Given the description of an element on the screen output the (x, y) to click on. 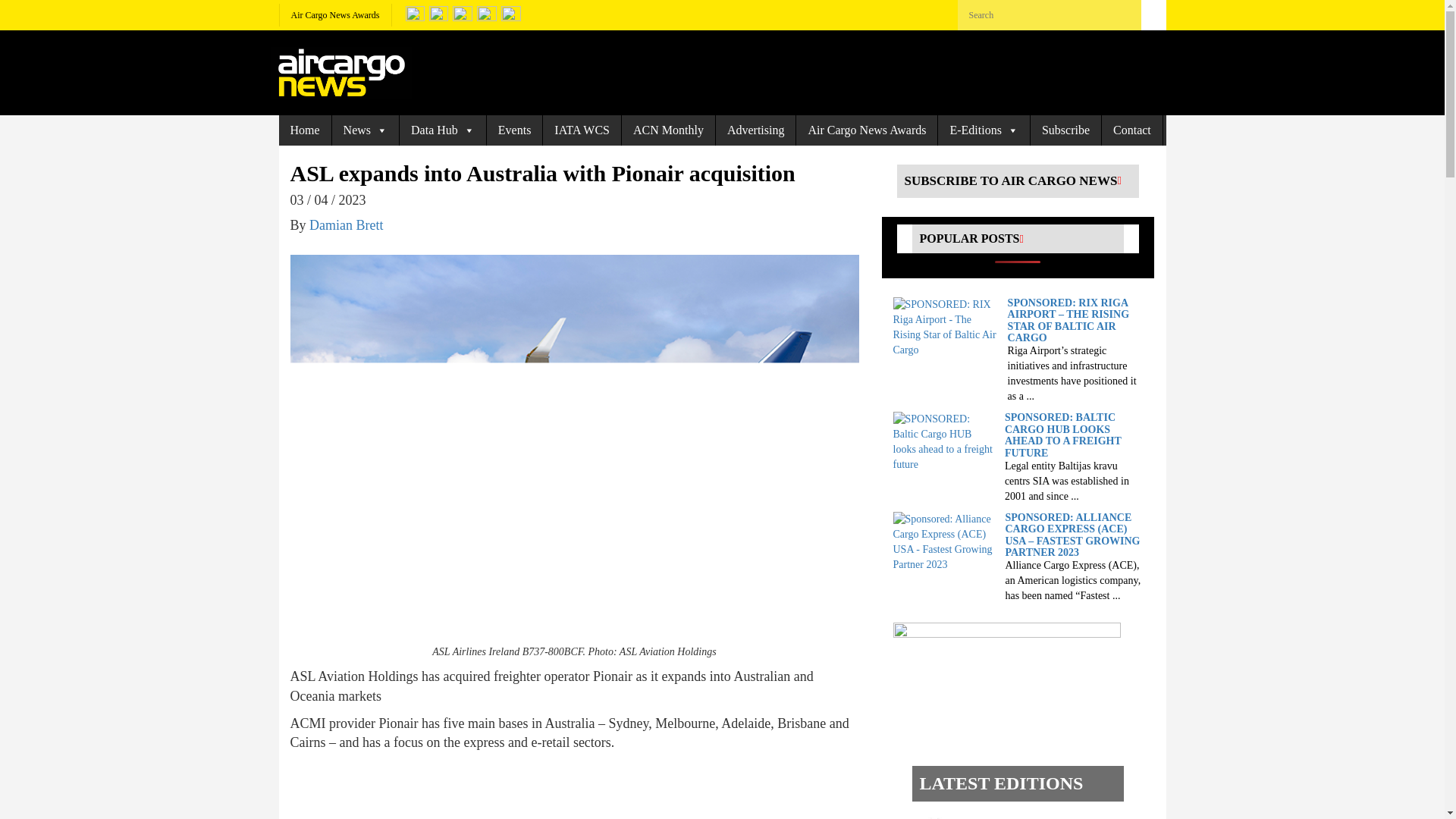
News (364, 130)
Air Cargo News Awards (335, 14)
SPONSORED: Baltic Cargo HUB looks ahead to a freight future (945, 441)
Air Cargo News Issue 906 -Summer 2024 (1002, 816)
Home (305, 130)
